Given the description of an element on the screen output the (x, y) to click on. 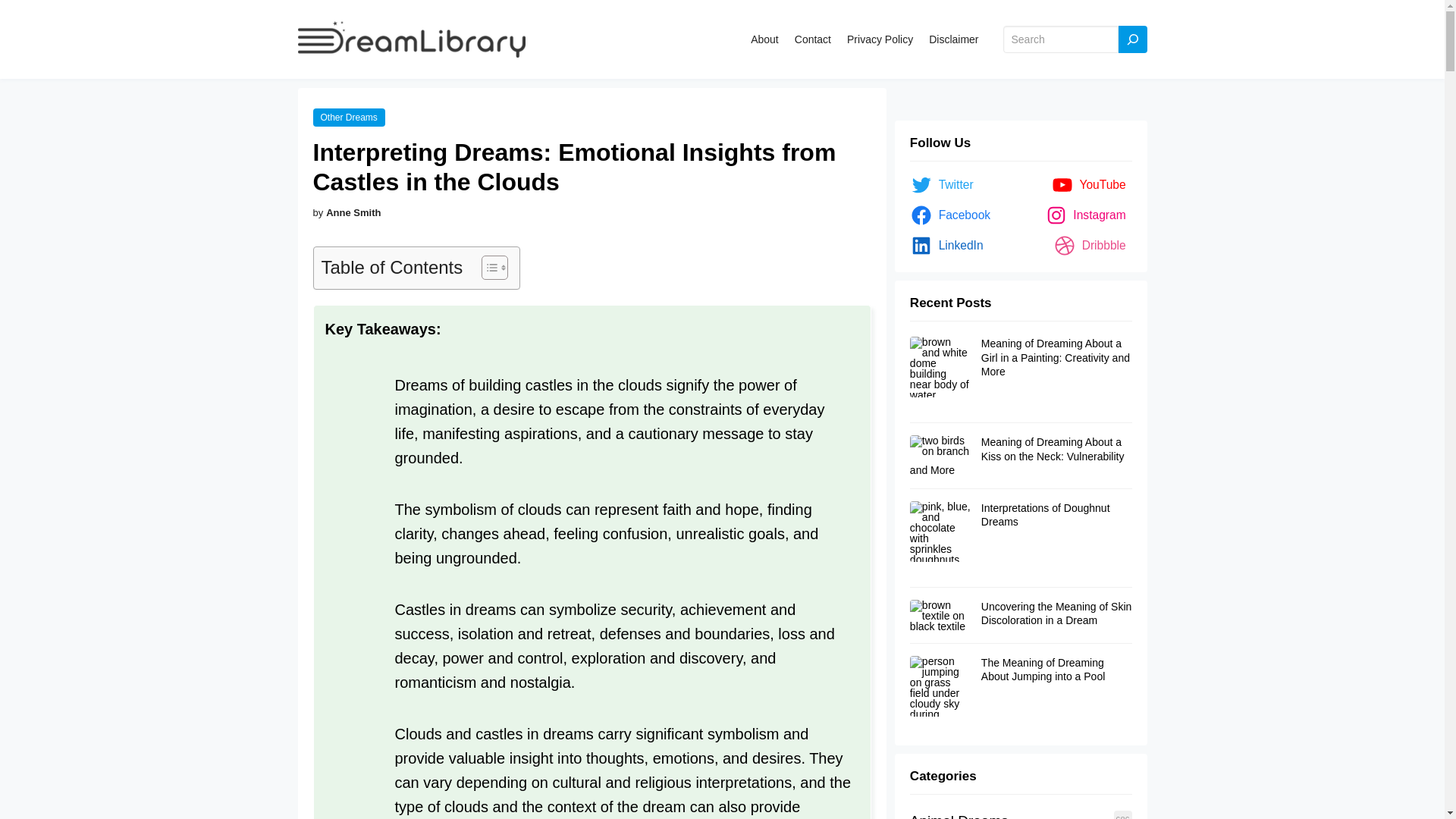
Privacy Policy (879, 39)
Disclaimer (953, 39)
Other Dreams (348, 117)
Contact (812, 39)
